Given the description of an element on the screen output the (x, y) to click on. 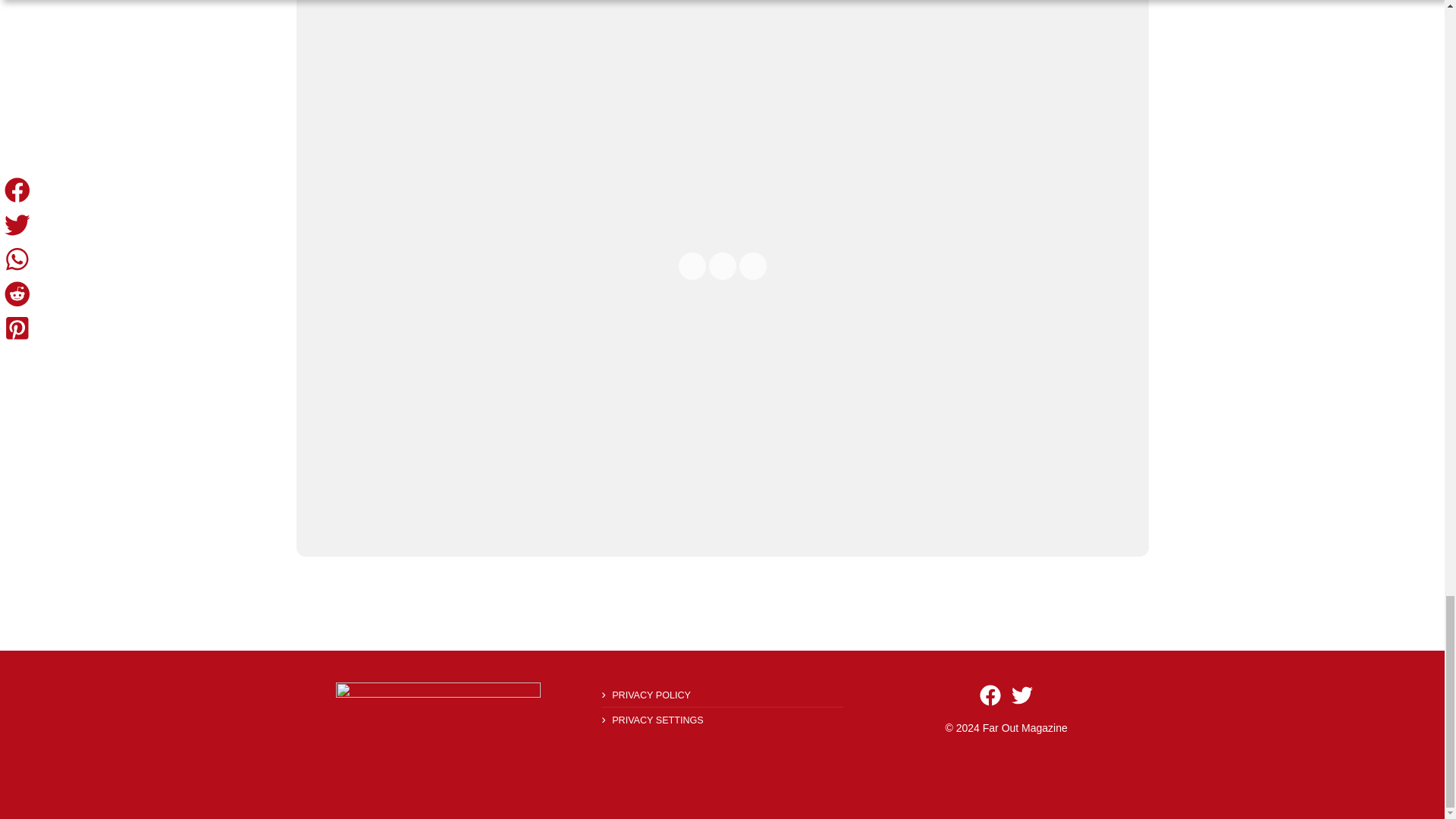
Best Of Netflix on Facebook (990, 694)
Best Of Netflix (438, 702)
Best Of Netflix on Twitter (1021, 694)
More in Must Watch Films (721, 598)
MORE IN MUST WATCH FILMS (721, 598)
